Given the description of an element on the screen output the (x, y) to click on. 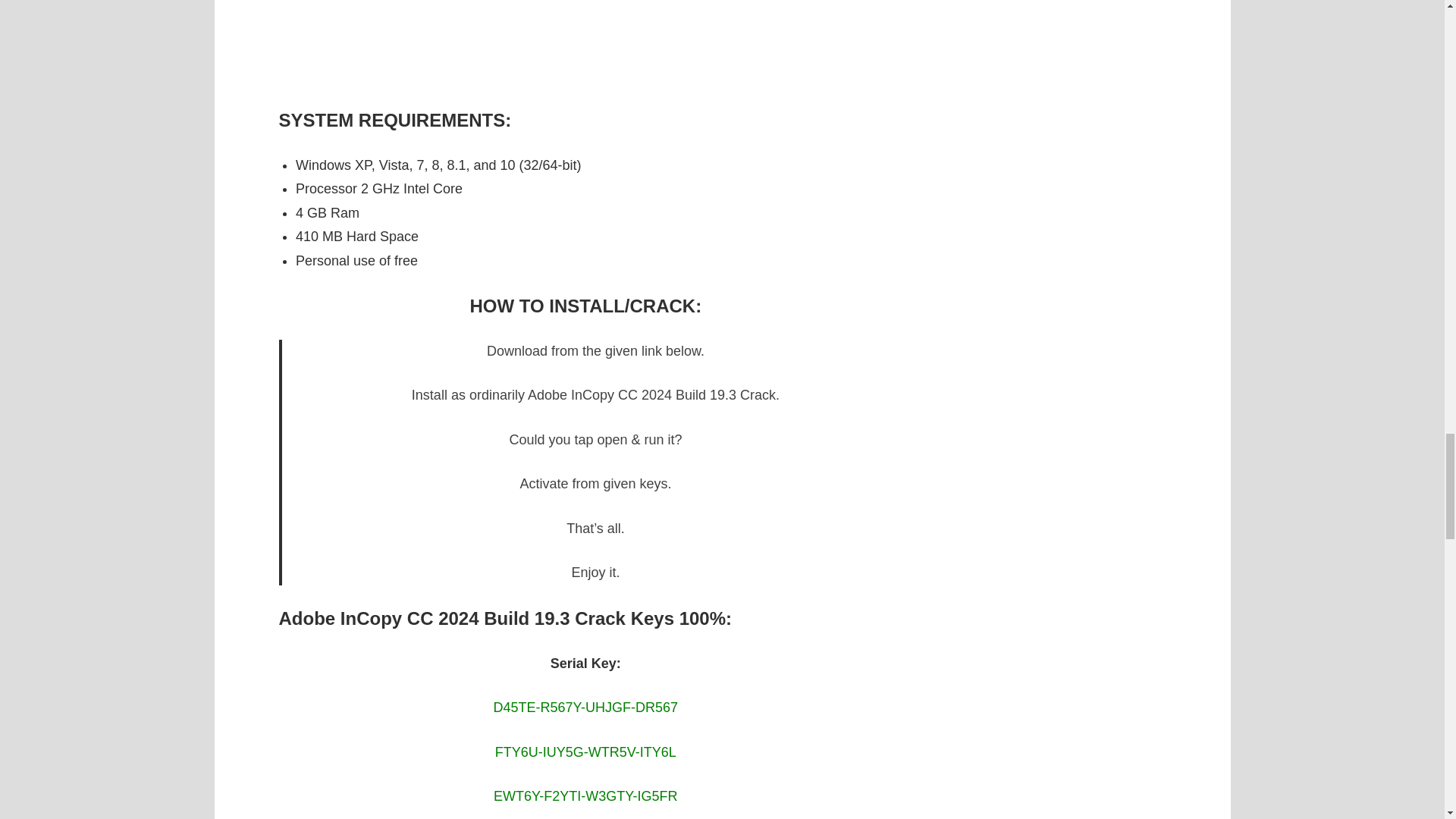
Adobe InCopy CC  (584, 43)
